Given the description of an element on the screen output the (x, y) to click on. 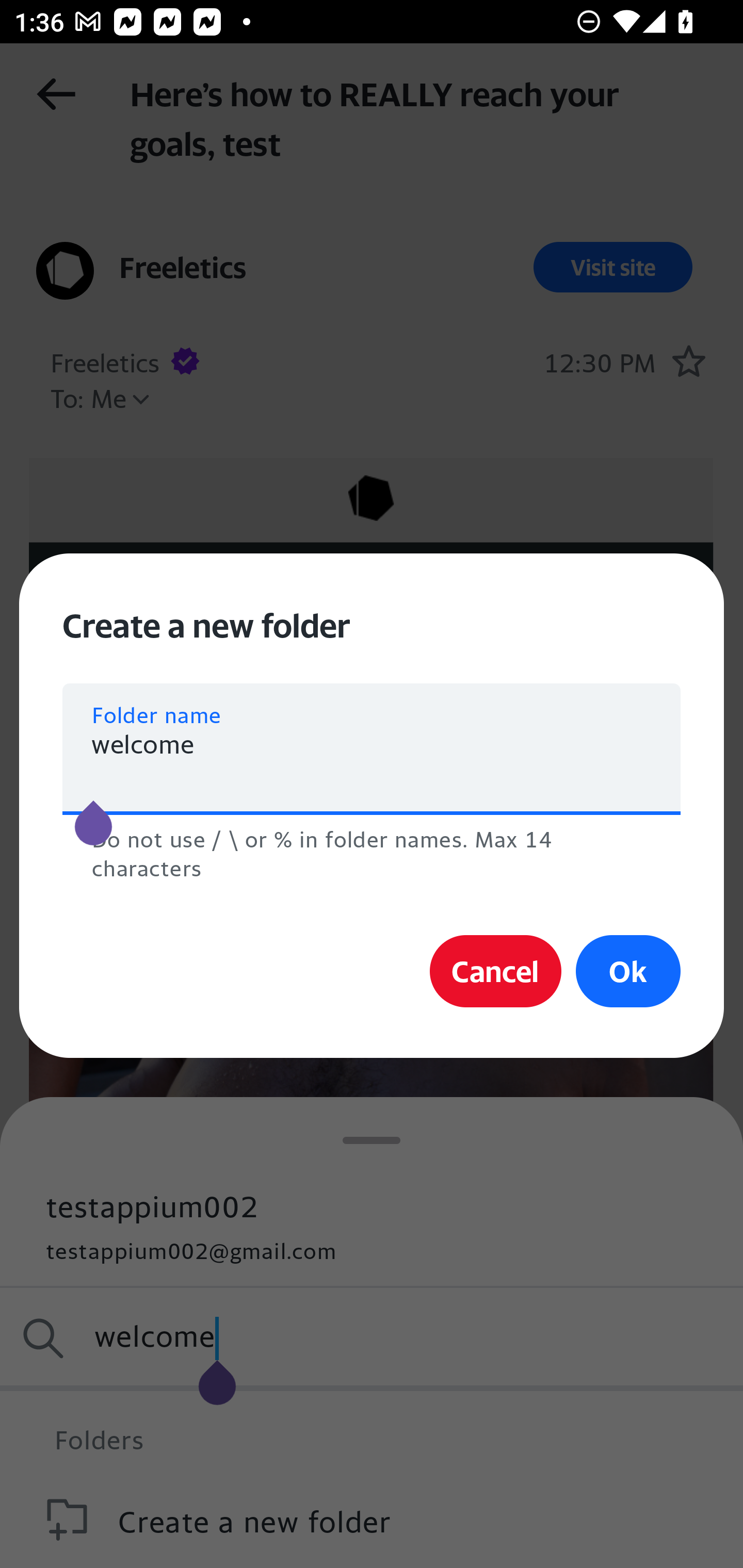
Cancel (495, 971)
Ok (627, 971)
